Given the description of an element on the screen output the (x, y) to click on. 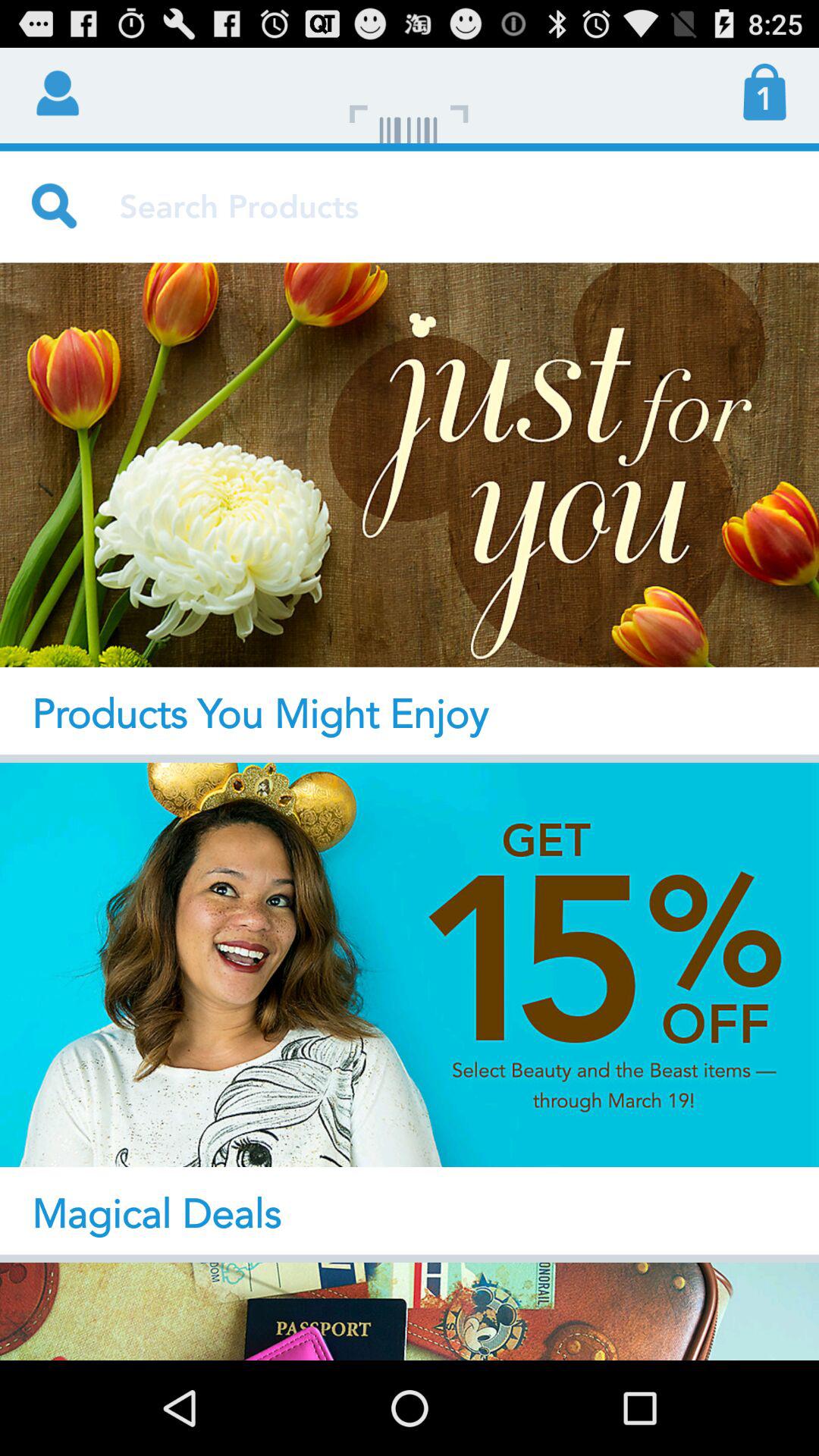
turn off icon at the top left corner (55, 91)
